Given the description of an element on the screen output the (x, y) to click on. 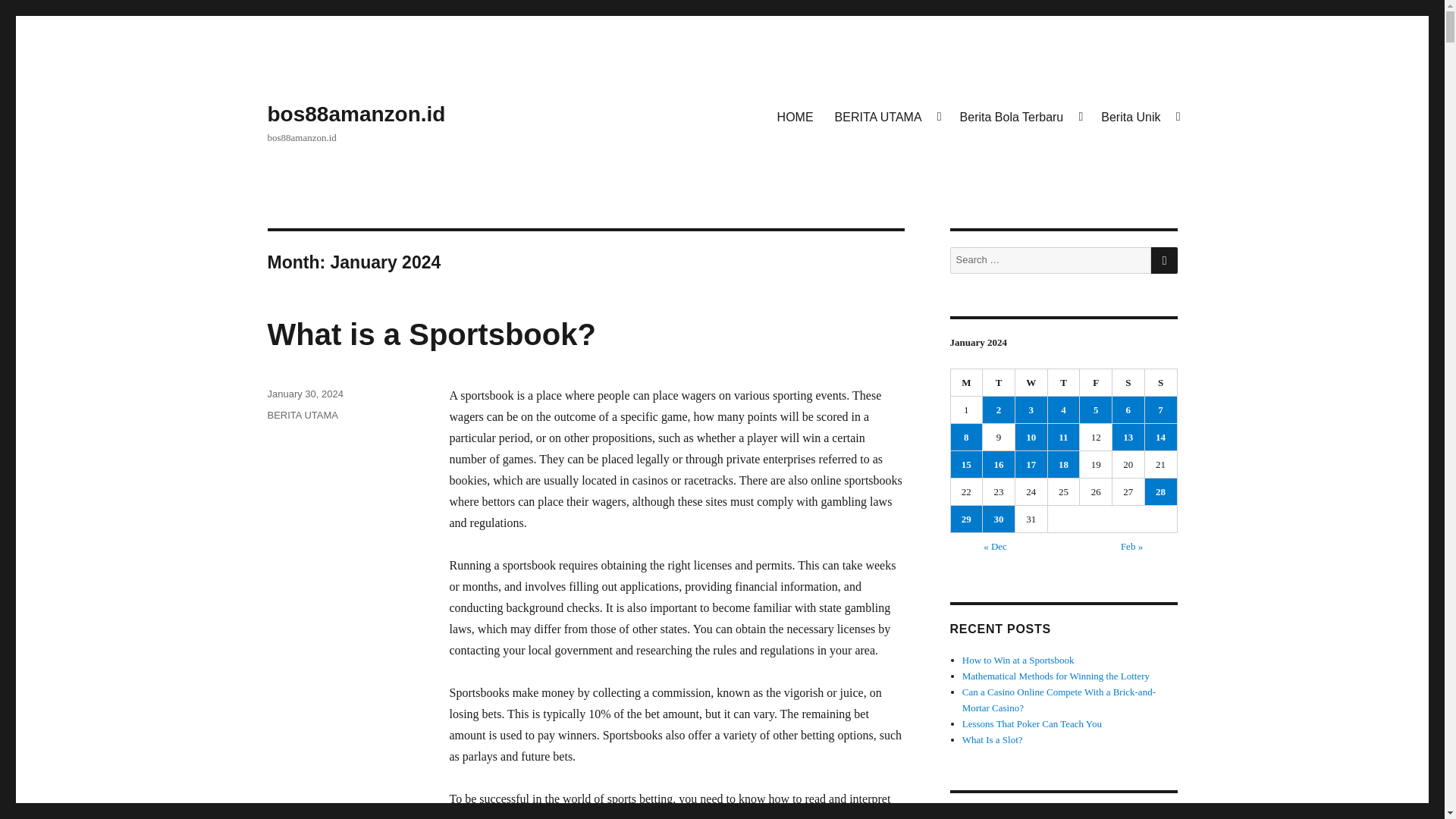
BERITA UTAMA (301, 414)
Thursday (1064, 382)
What is a Sportsbook? (430, 334)
Saturday (1128, 382)
bos88amanzon.id (355, 114)
Sunday (1160, 382)
Wednesday (1031, 382)
Friday (1096, 382)
Tuesday (998, 382)
HOME (795, 116)
BERITA UTAMA (886, 116)
Monday (967, 382)
Berita Bola Terbaru (1019, 116)
Berita Unik (1139, 116)
January 30, 2024 (304, 393)
